Given the description of an element on the screen output the (x, y) to click on. 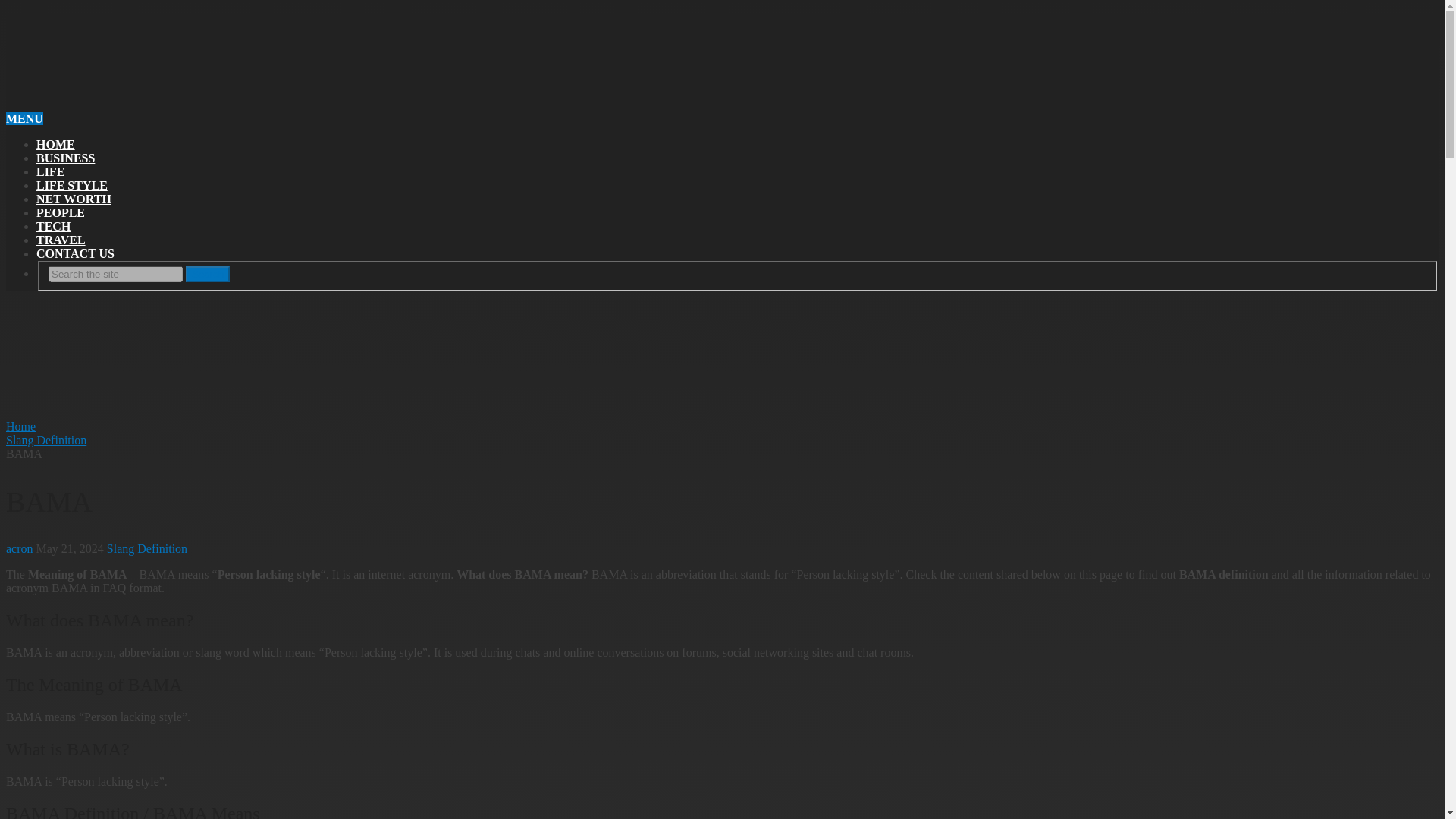
PEOPLE (60, 212)
CONTACT US (75, 253)
Posts by acron (19, 548)
acron (19, 548)
LIFE (50, 171)
MENU (24, 118)
View all posts in Slang Definition (146, 548)
TRAVEL (60, 239)
Slang Definition (45, 440)
Search (208, 273)
TECH (52, 226)
LIFE STYLE (71, 185)
Home (19, 426)
BUSINESS (65, 157)
Slang Definition (146, 548)
